Given the description of an element on the screen output the (x, y) to click on. 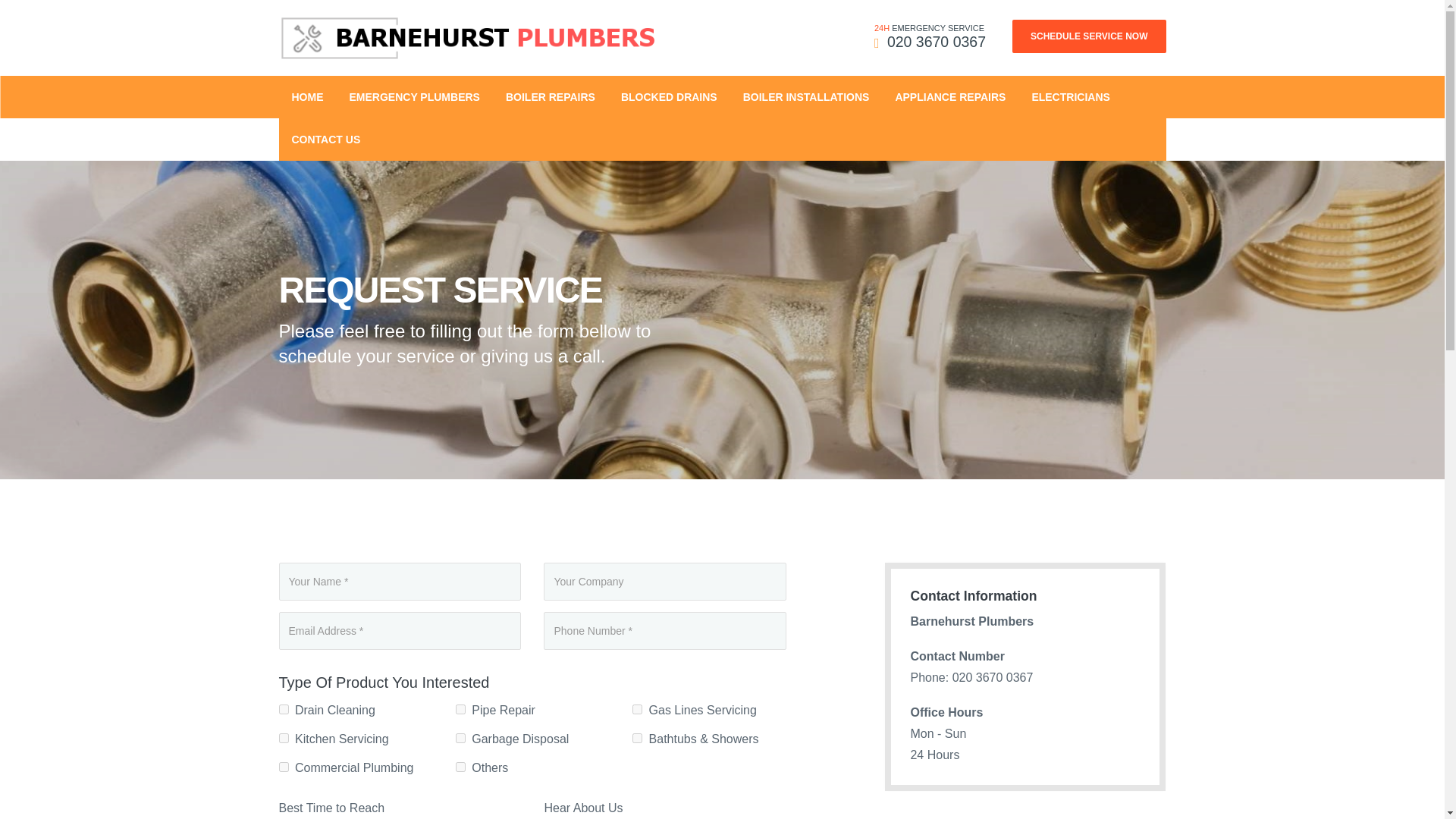
Bathtubs and Showers (636, 737)
BOILER INSTALLATIONS (806, 96)
HOME (307, 96)
Kitchen Servicing (283, 737)
ELECTRICIANS (1069, 96)
Pipe Repair (460, 709)
CONTACT US (326, 138)
Garbage Disposal (460, 737)
Gas Lines Servicing (636, 709)
Commercial Plumbing (283, 767)
BLOCKED DRAINS (669, 96)
APPLIANCE REPAIRS (949, 96)
BOILER REPAIRS (550, 96)
Drain Cleaning (283, 709)
SCHEDULE SERVICE NOW (1088, 36)
